Given the description of an element on the screen output the (x, y) to click on. 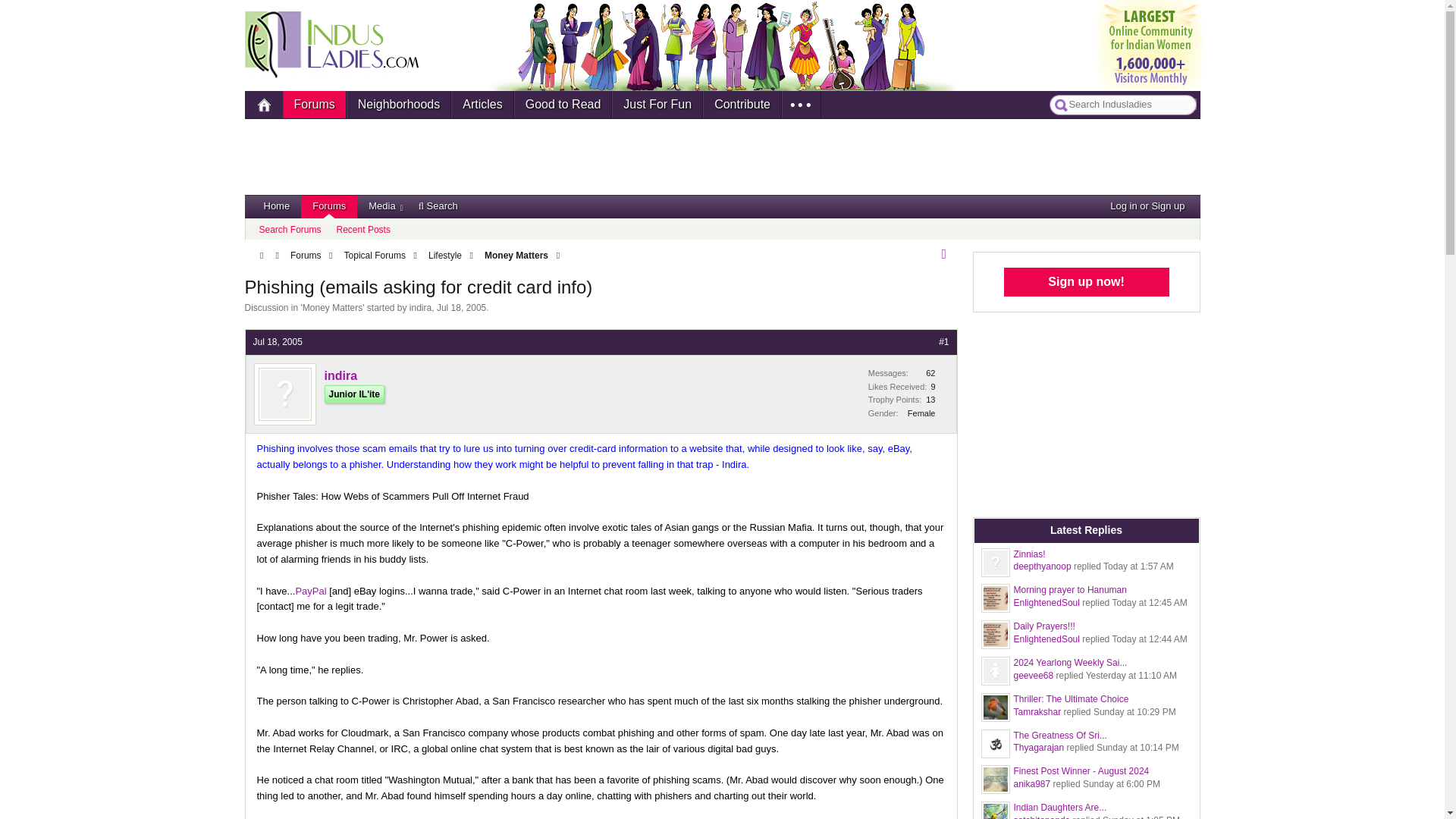
Permalink (277, 341)
Enter your search and hit enter (1132, 103)
Permalink (944, 341)
Home (263, 103)
Contribute (741, 103)
Articles (481, 103)
Just For Fun (656, 103)
Good to Read (563, 103)
Forums (314, 103)
Jul 18, 2005 at 7:34 AM (461, 307)
